Given the description of an element on the screen output the (x, y) to click on. 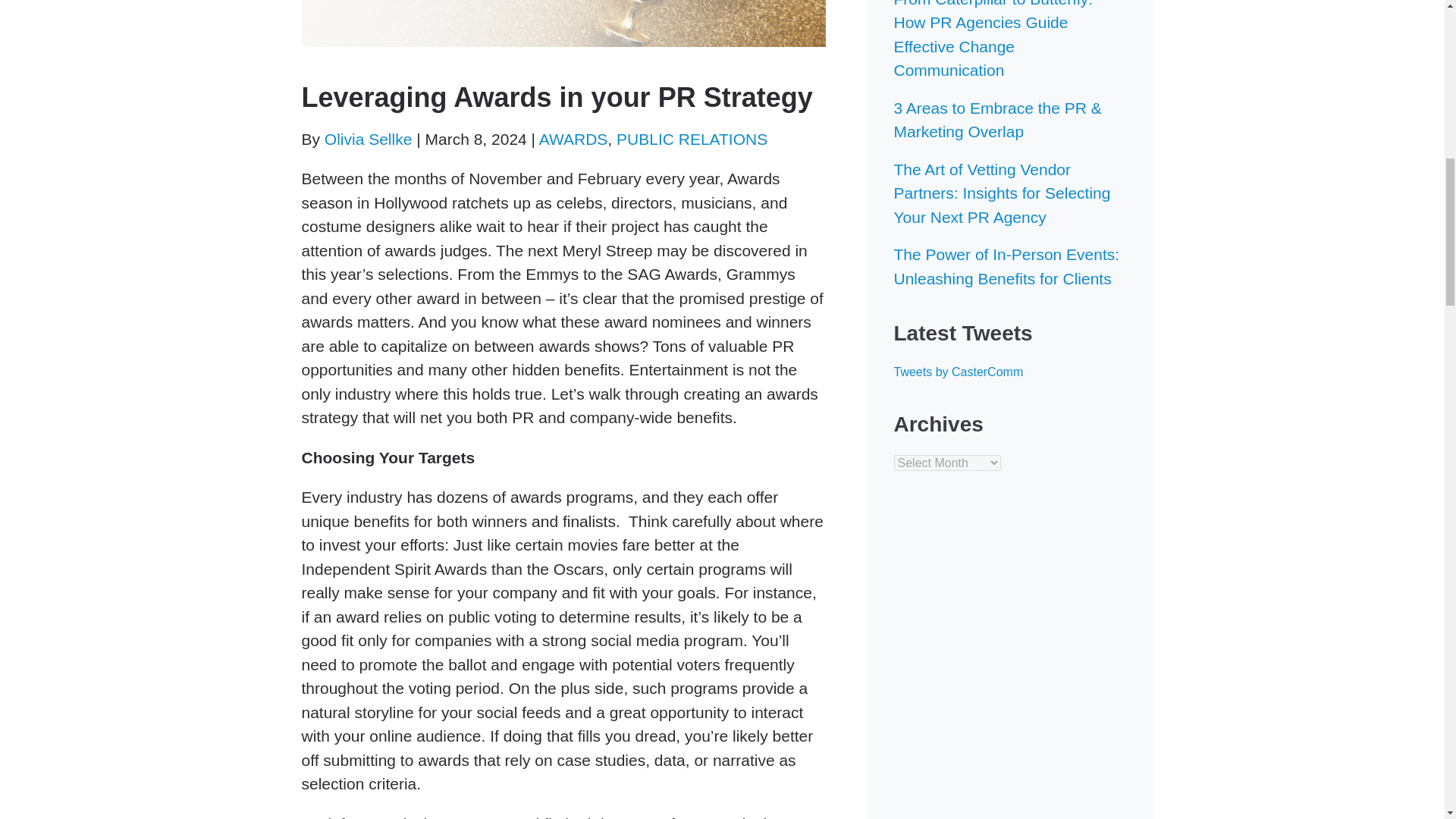
Posts by Olivia Sellke (368, 139)
AWARDS (573, 139)
Olivia Sellke (368, 139)
PUBLIC RELATIONS (691, 139)
